Given the description of an element on the screen output the (x, y) to click on. 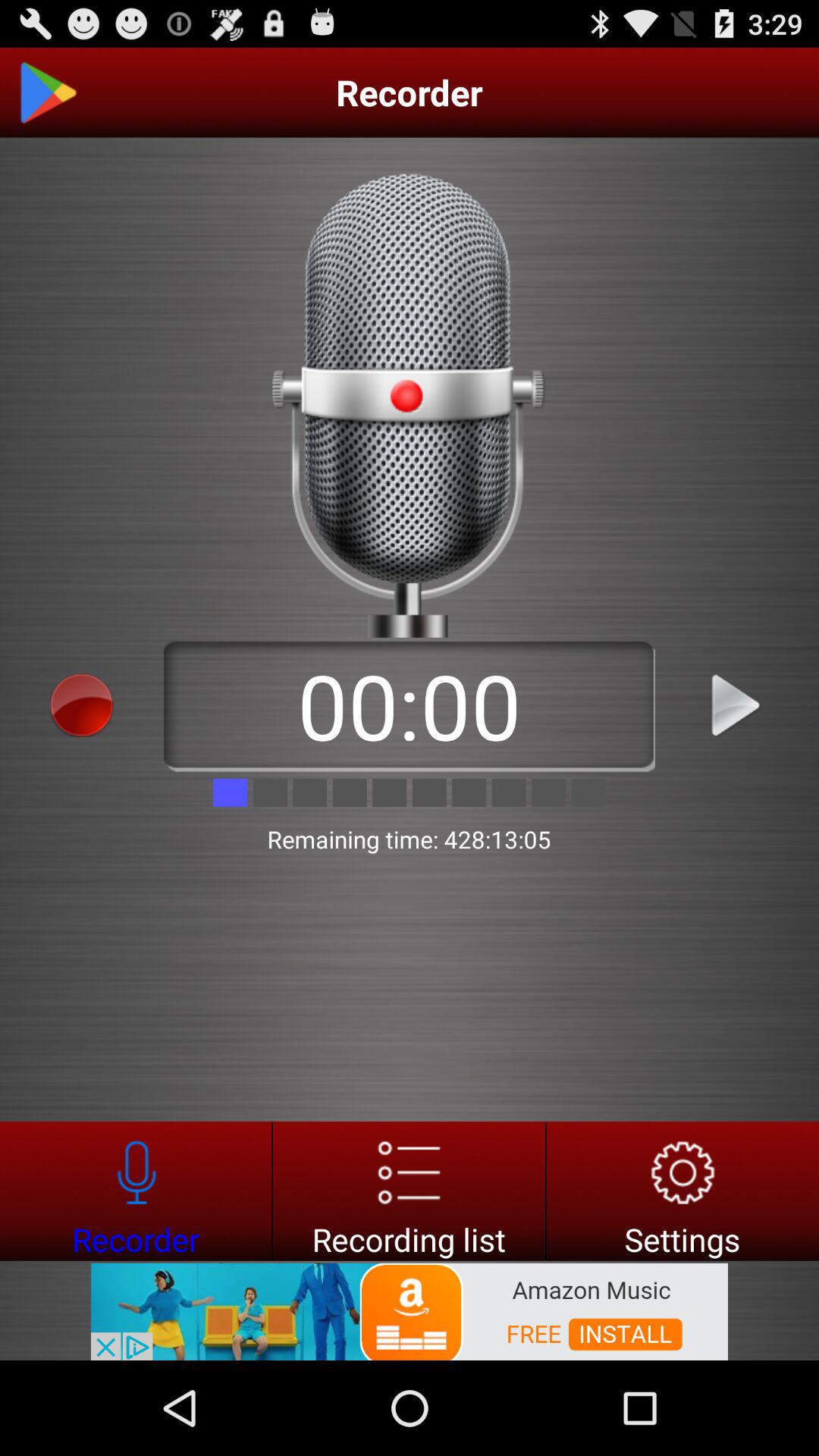
go to settngs (682, 1190)
